Given the description of an element on the screen output the (x, y) to click on. 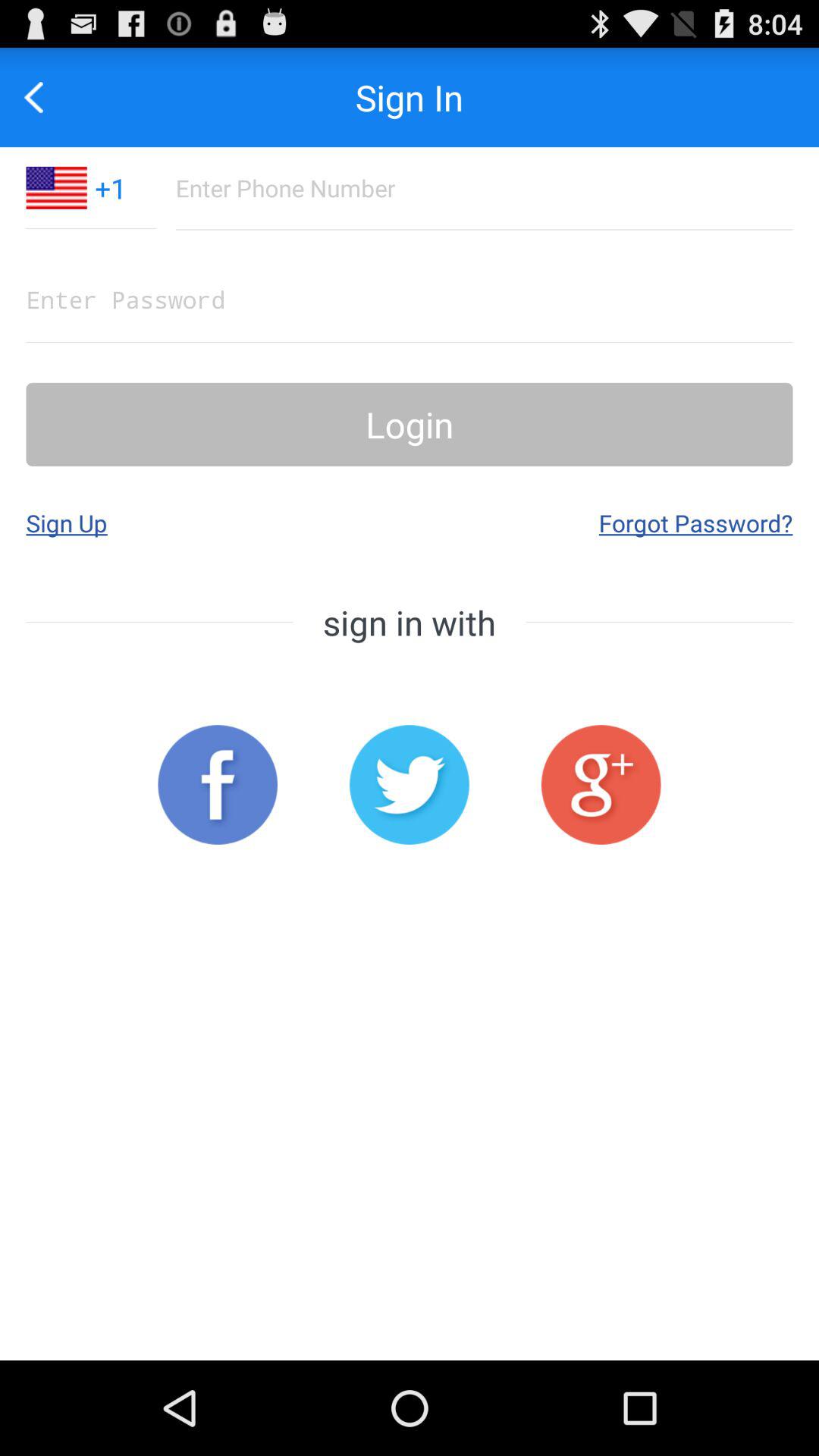
enter phone number as login (483, 188)
